Given the description of an element on the screen output the (x, y) to click on. 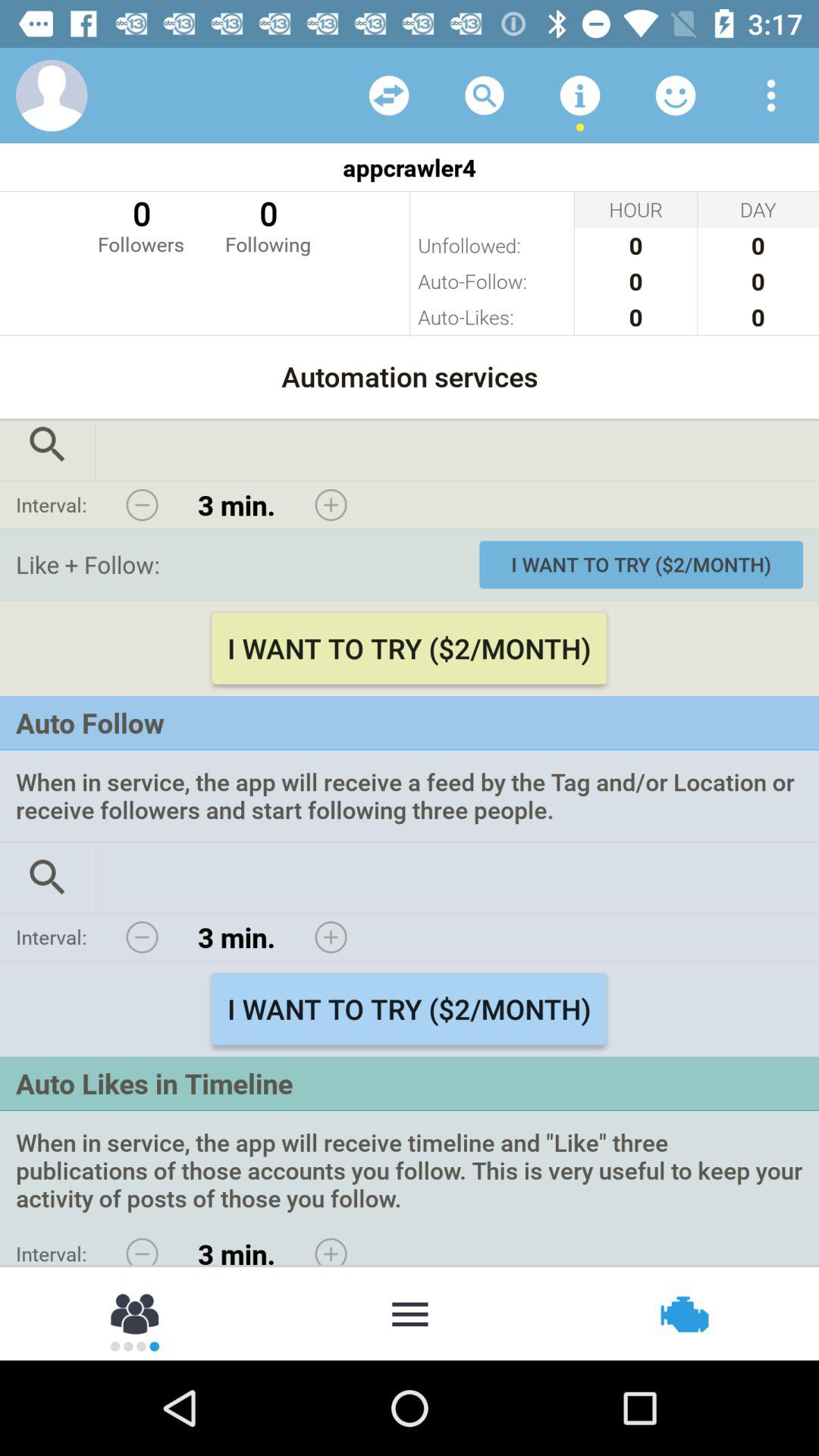
advance minutes (330, 504)
